Given the description of an element on the screen output the (x, y) to click on. 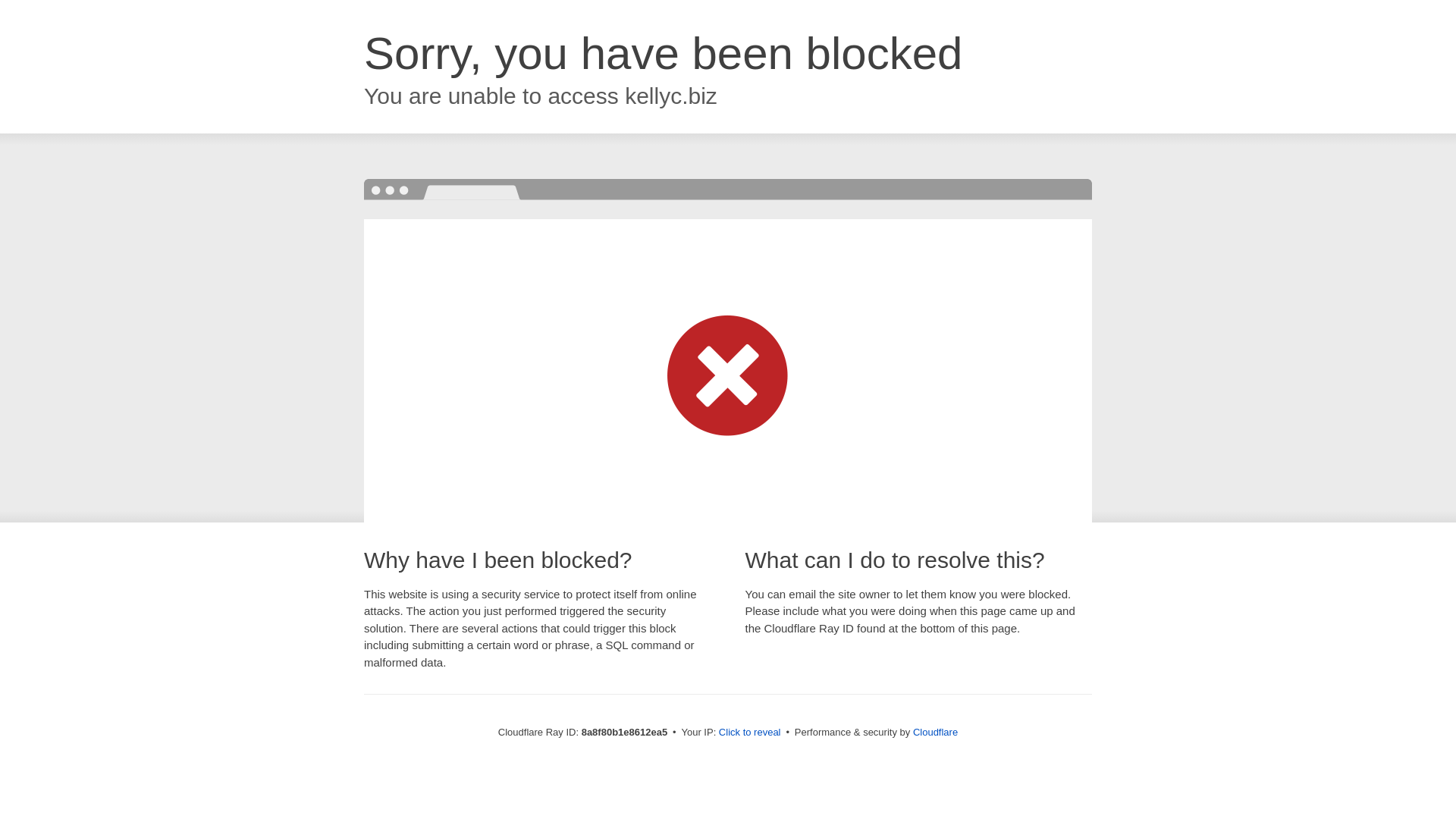
Click to reveal (749, 732)
Cloudflare (935, 731)
